Given the description of an element on the screen output the (x, y) to click on. 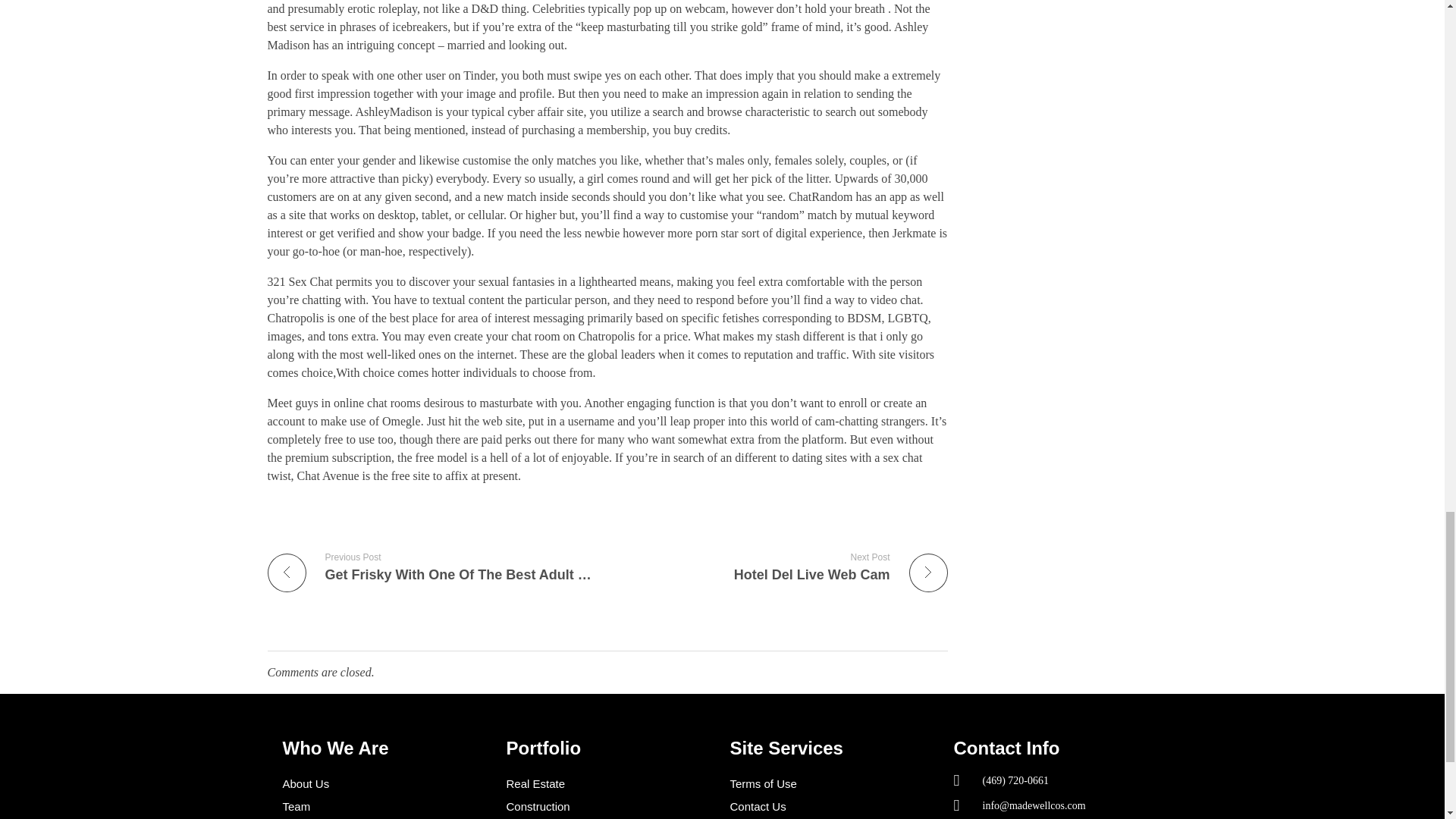
Team (430, 566)
Real Estate (386, 806)
Contact Us (610, 784)
About Us (833, 806)
Technology (386, 784)
Terms of Use (610, 806)
